Given the description of an element on the screen output the (x, y) to click on. 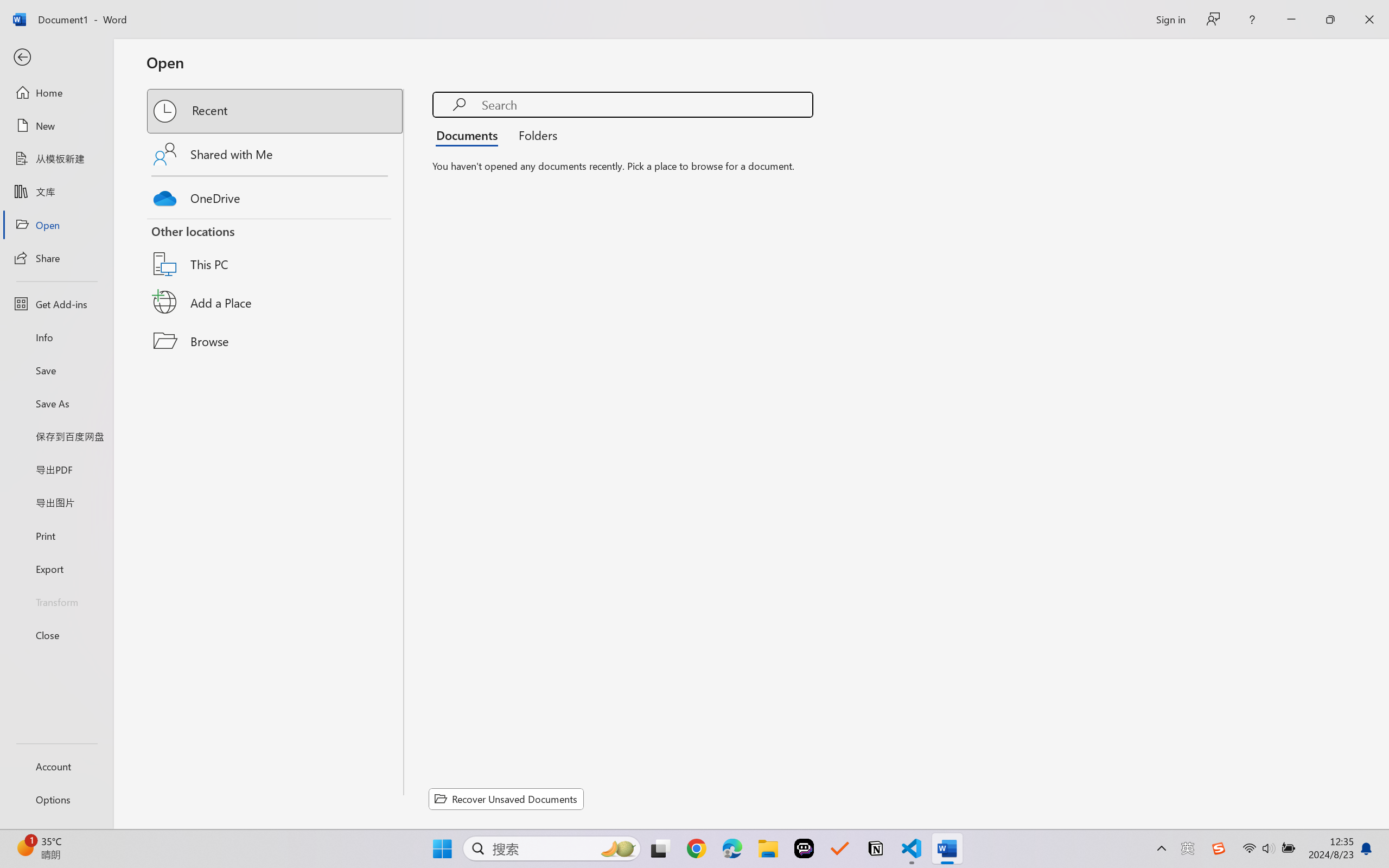
Back (56, 57)
Recent (275, 110)
Options (56, 798)
Recover Unsaved Documents (506, 798)
OneDrive (275, 195)
Print (56, 535)
Transform (56, 601)
